Given the description of an element on the screen output the (x, y) to click on. 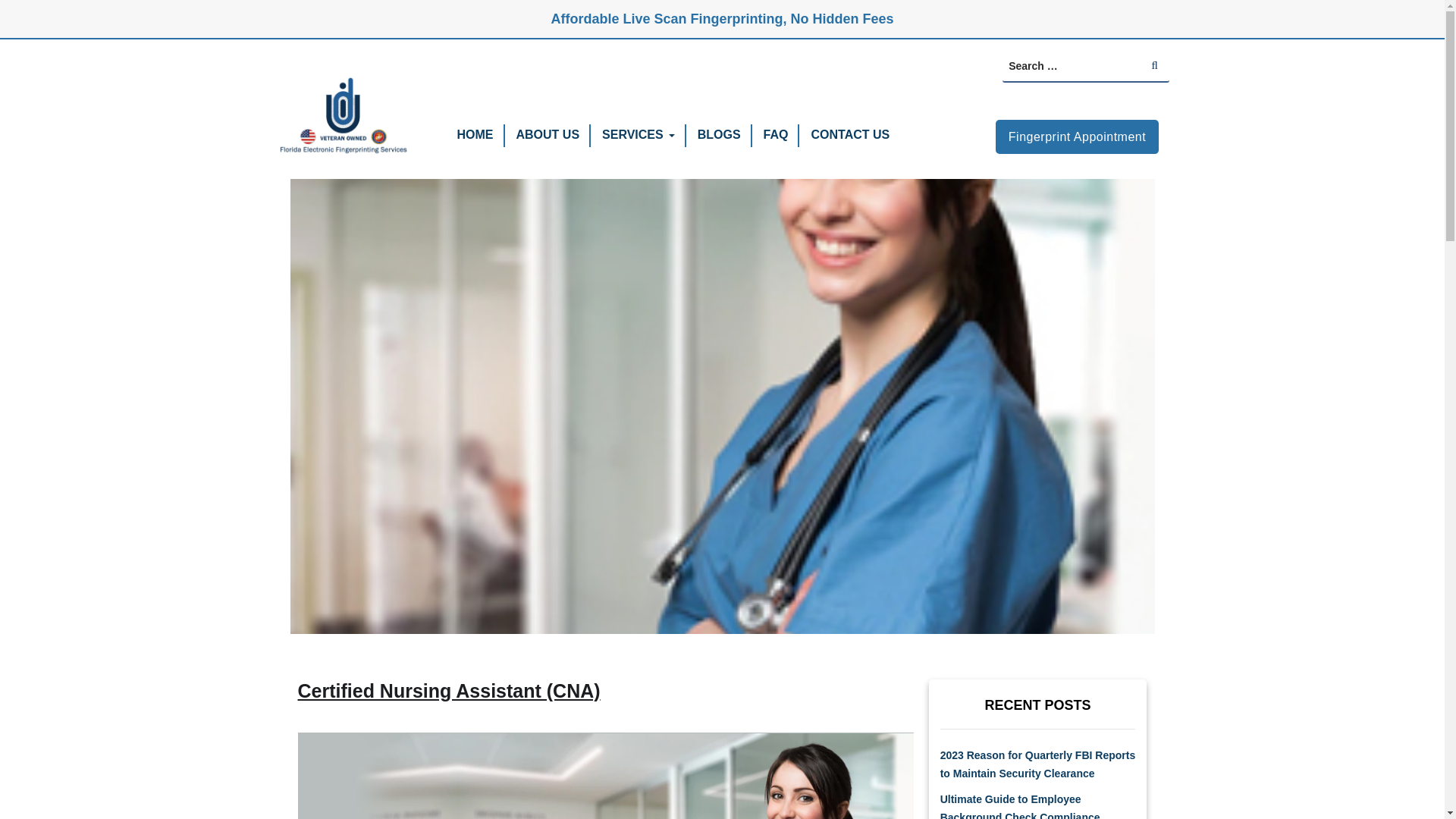
SERVICES (632, 133)
ABOUT US (547, 133)
HOME (475, 133)
